Given the description of an element on the screen output the (x, y) to click on. 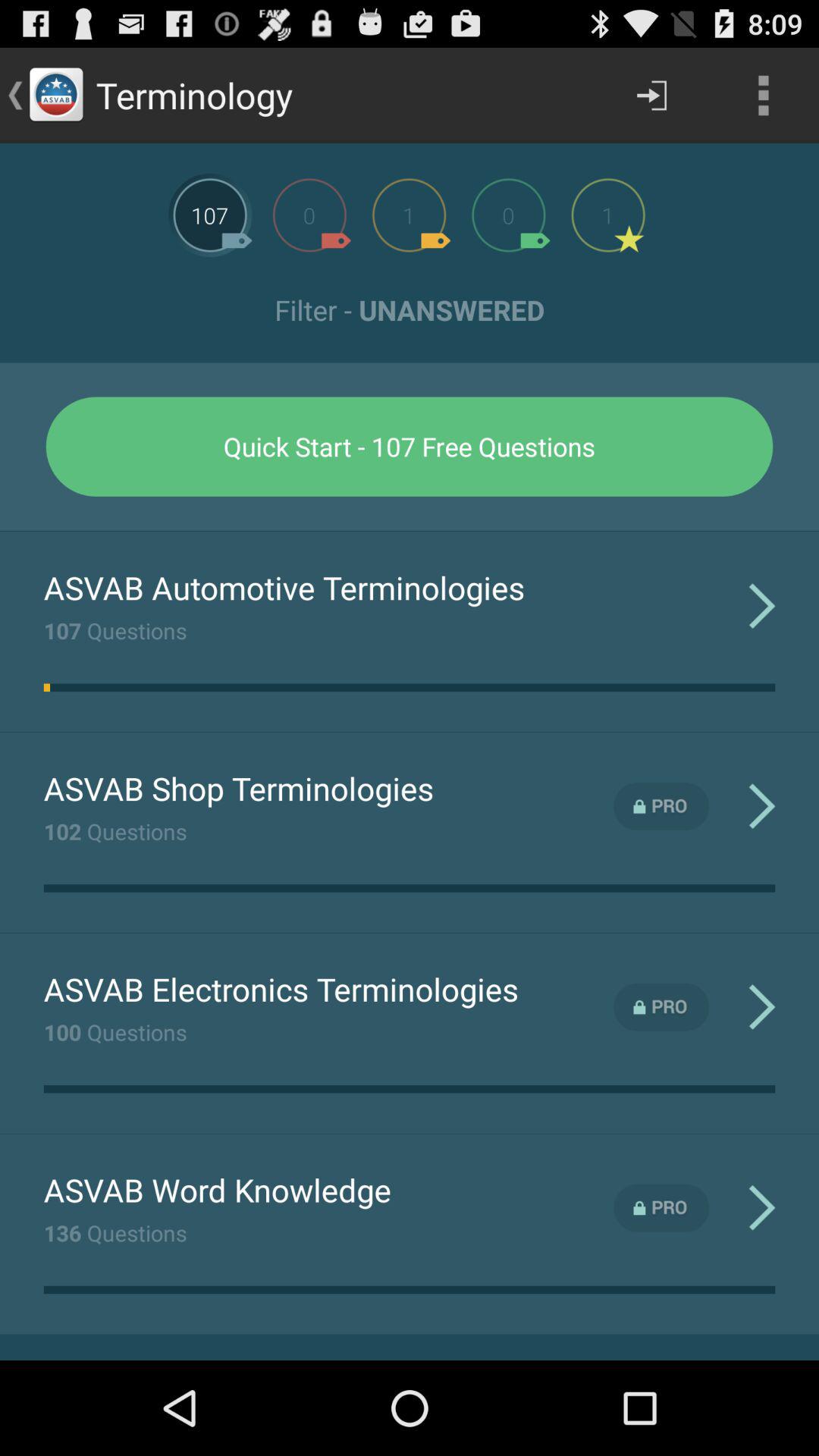
press icon above the filter - unanswered app (763, 95)
